Given the description of an element on the screen output the (x, y) to click on. 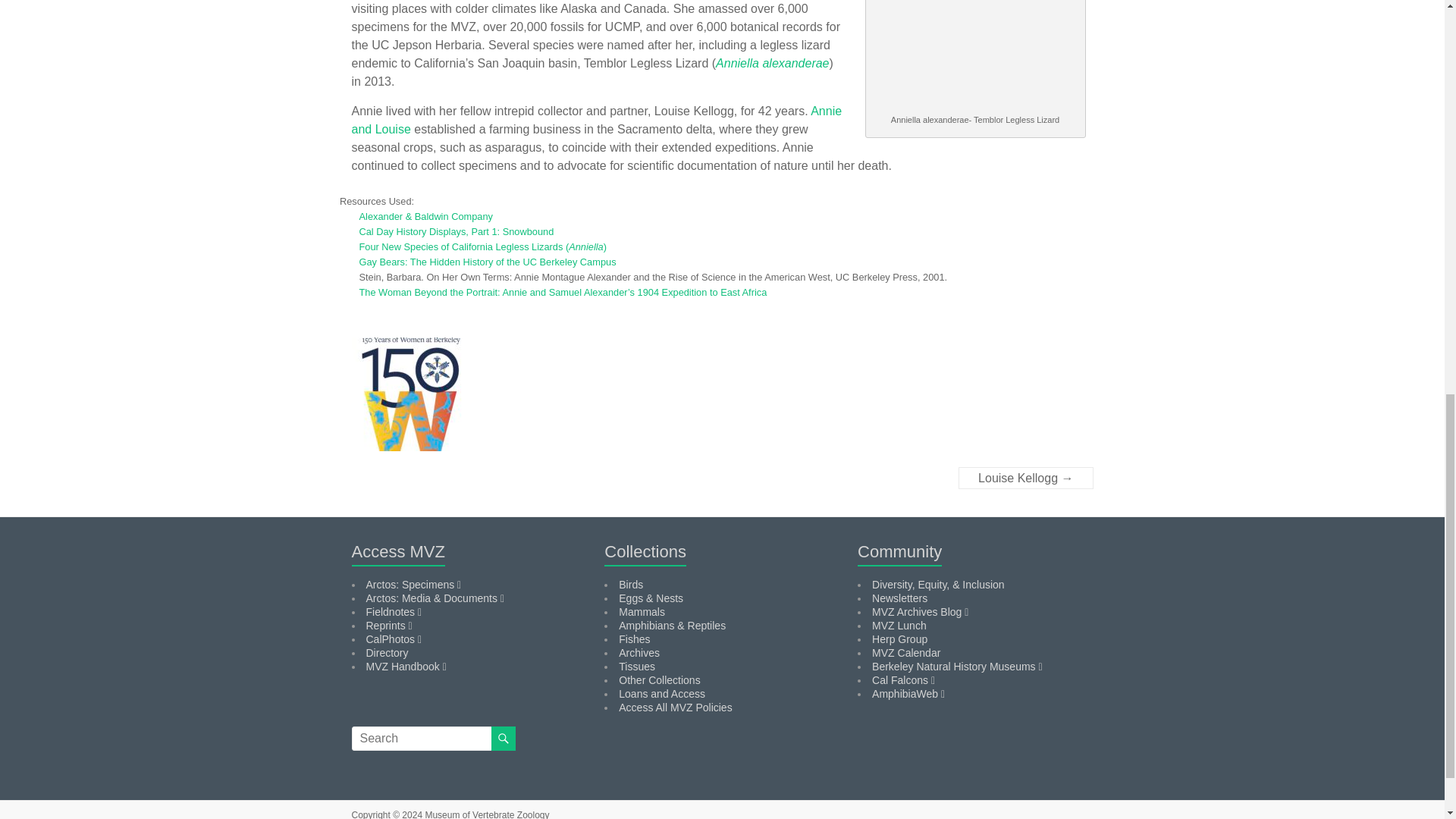
Museum of Vertebrate Zoology (486, 814)
